Given the description of an element on the screen output the (x, y) to click on. 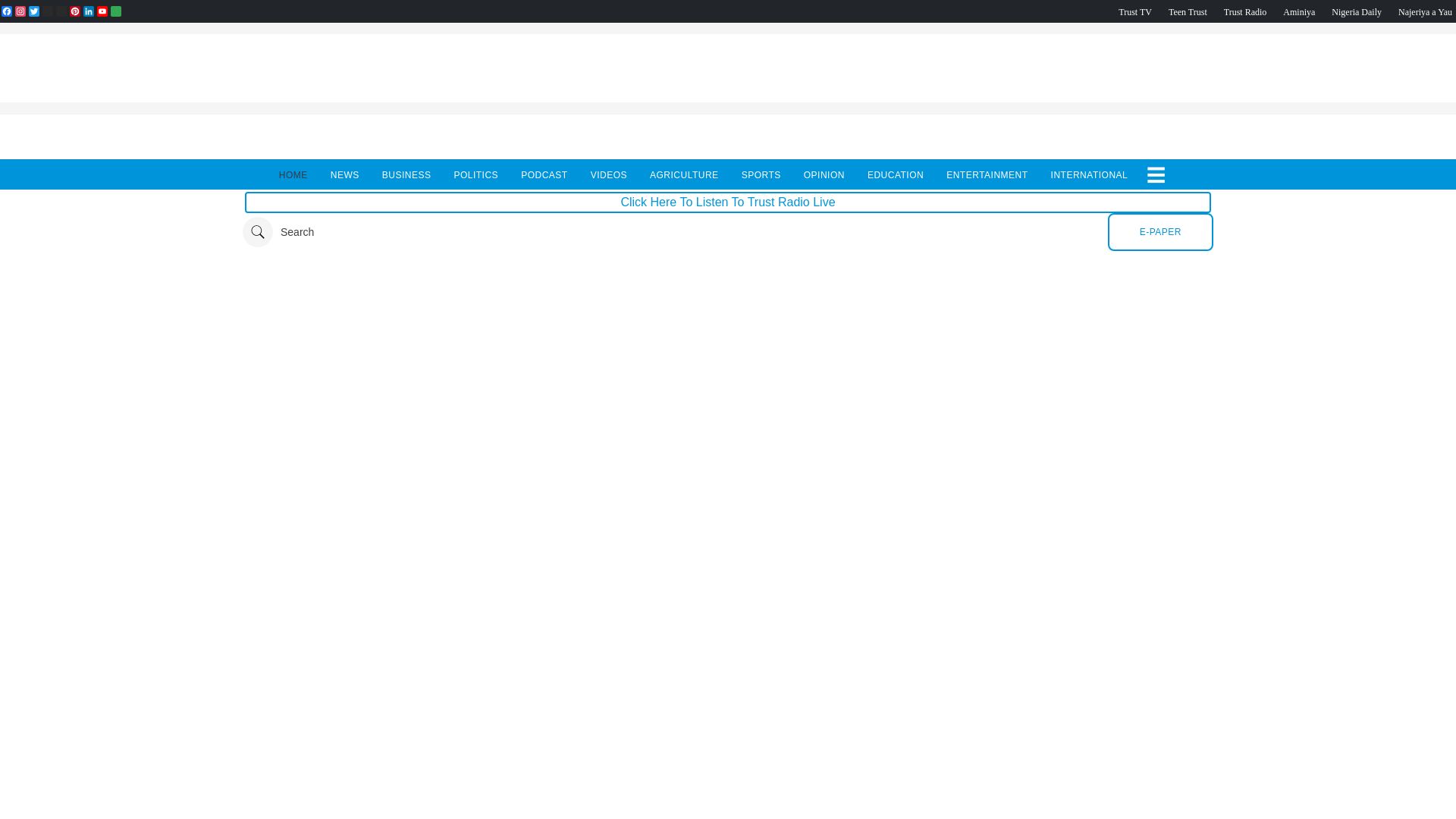
TikTok (61, 10)
Aminiya (1298, 11)
Threads (47, 10)
Instagram (20, 10)
NEWS (344, 174)
Trust Radio Live (1245, 11)
Nigeria Daily (1356, 11)
Search (278, 232)
Twitter (33, 10)
Podcast (1356, 11)
Google Maps (115, 10)
Dailytrust (727, 231)
Najeriya a Yau (1424, 11)
YouTube (102, 10)
HOME (293, 174)
